Given the description of an element on the screen output the (x, y) to click on. 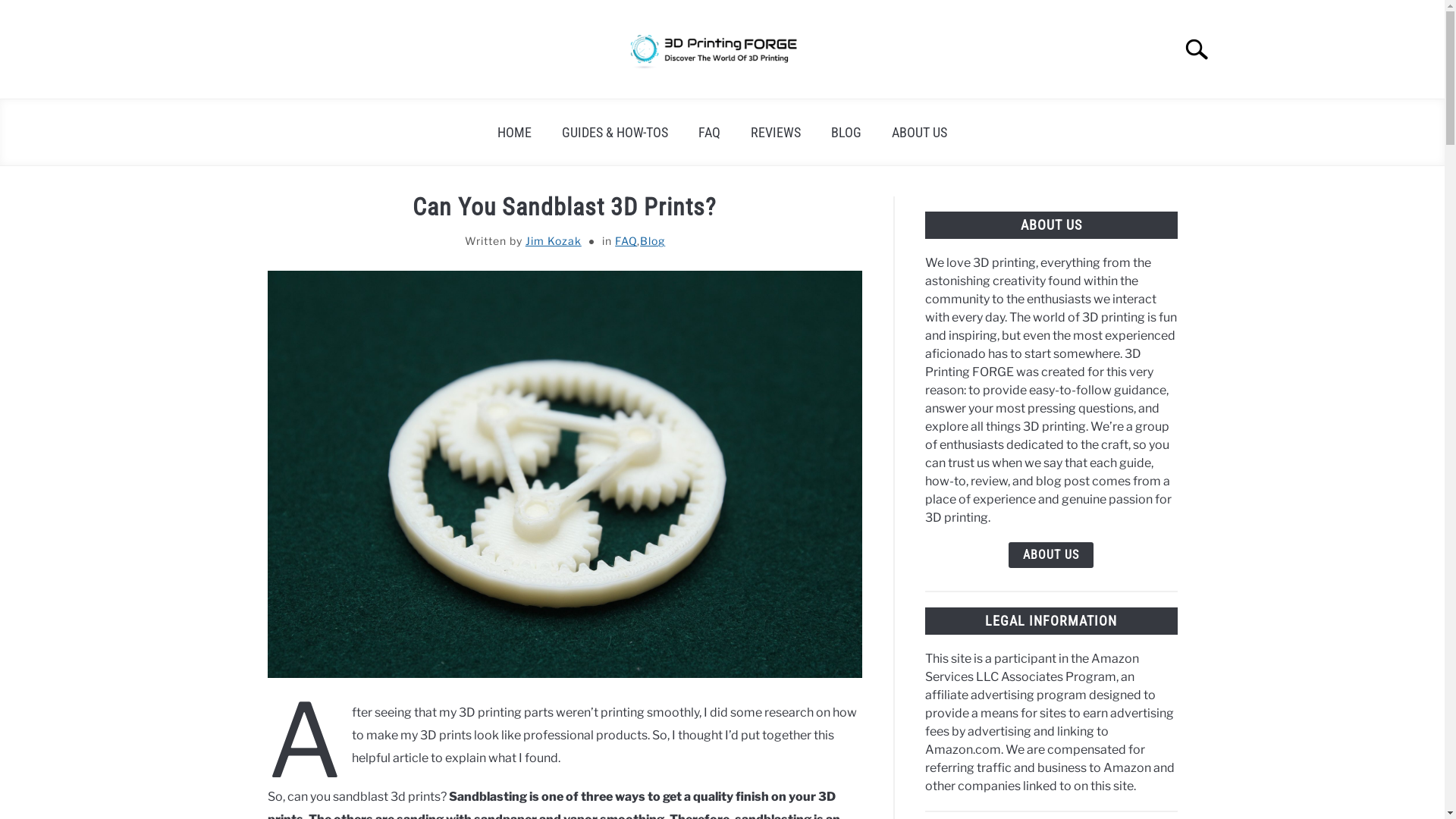
FAQ Element type: text (709, 132)
BLOG Element type: text (845, 132)
ABOUT US Element type: text (1050, 554)
Blog Element type: text (652, 240)
Search Element type: text (1203, 48)
ABOUT US Element type: text (919, 132)
HOME Element type: text (514, 132)
GUIDES & HOW-TOS Element type: text (614, 132)
Jim Kozak Element type: text (553, 240)
FAQ Element type: text (626, 240)
REVIEWS Element type: text (775, 132)
